Given the description of an element on the screen output the (x, y) to click on. 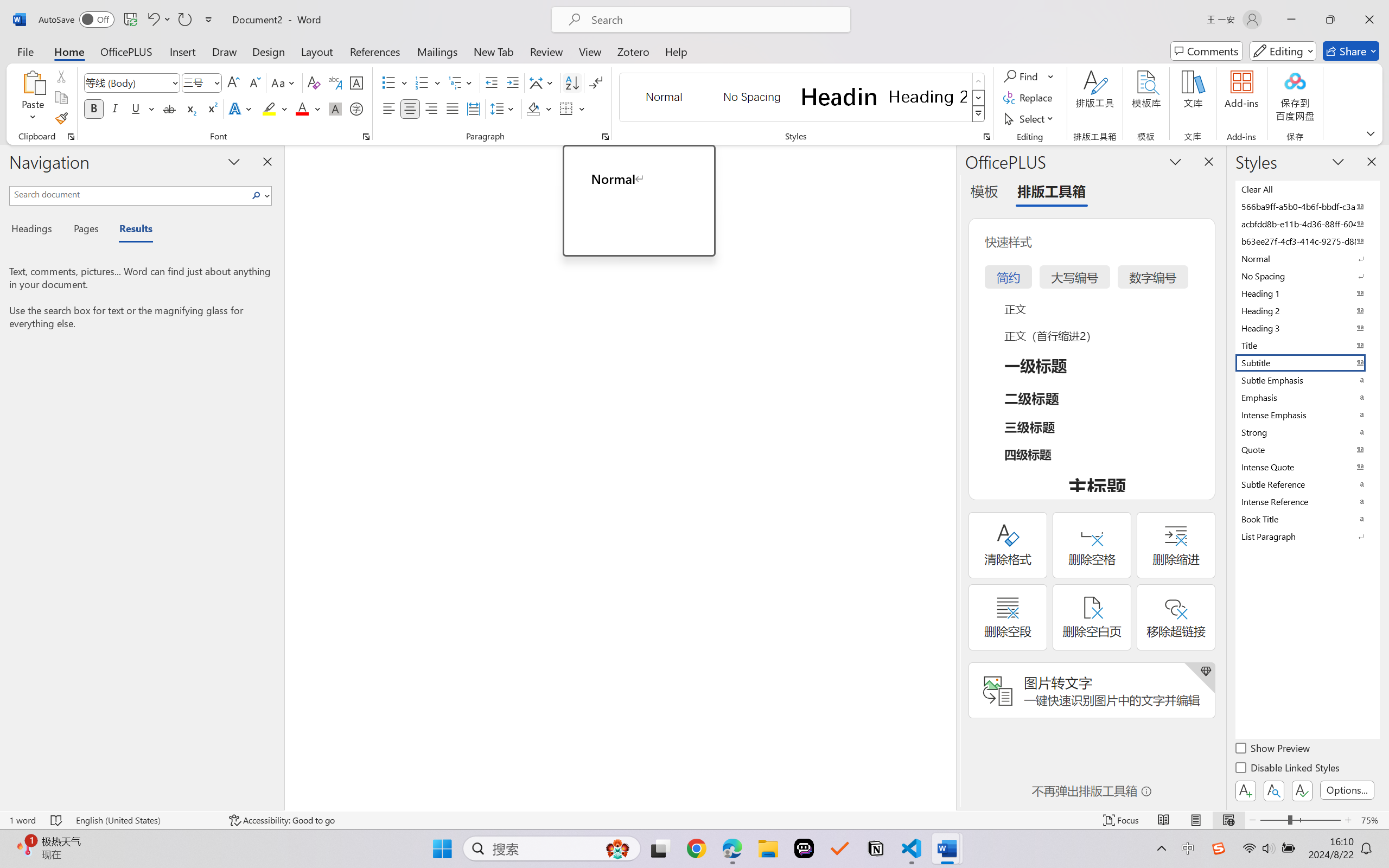
Pages (85, 229)
Decrease Indent (491, 82)
Read Mode (1163, 819)
References (375, 51)
Book Title (1306, 518)
Character Shading (334, 108)
566ba9ff-a5b0-4b6f-bbdf-c3ab41993fc2 (1306, 206)
Design (268, 51)
Accessibility Checker Accessibility: Good to go (282, 819)
